Given the description of an element on the screen output the (x, y) to click on. 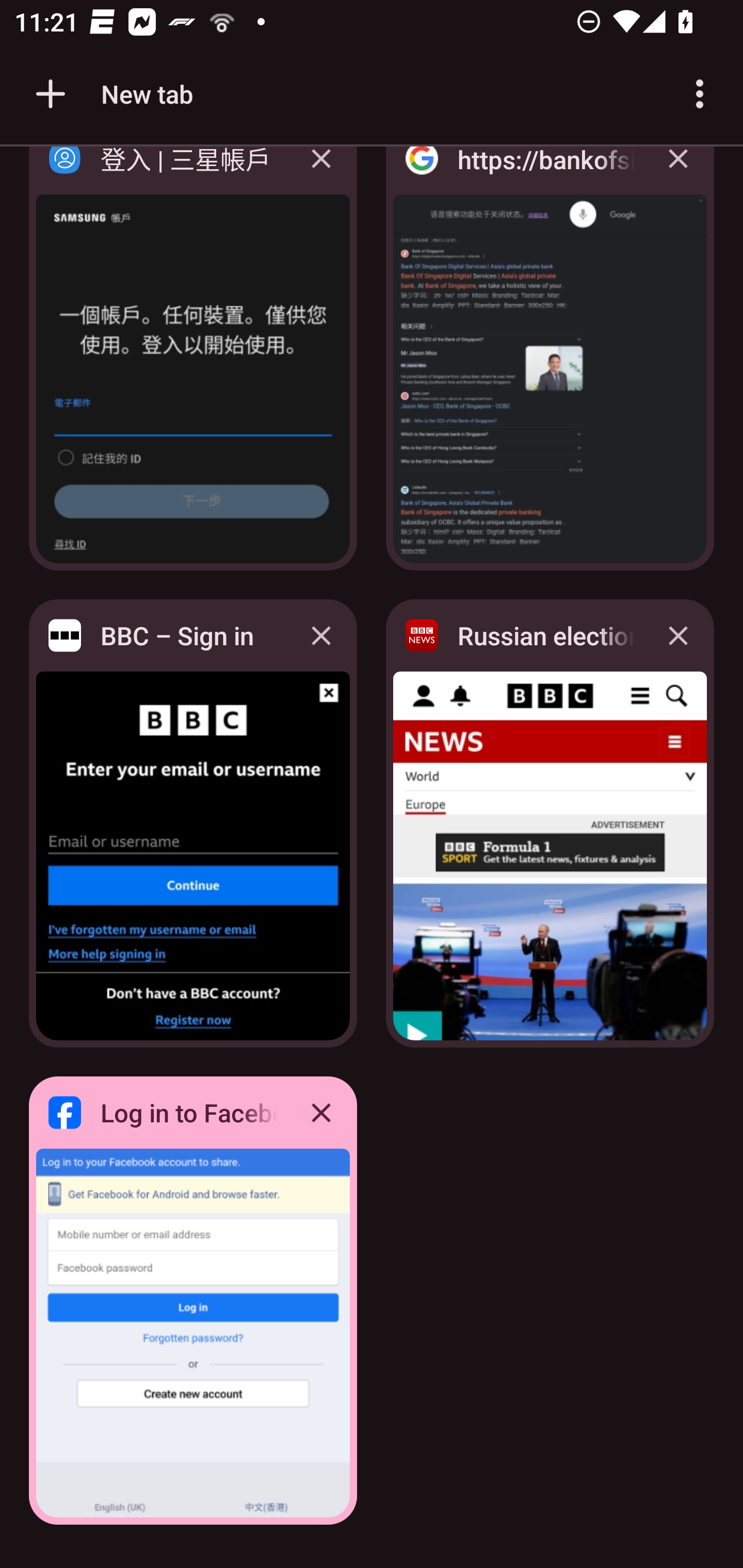
New tab (111, 93)
Customize and control Google Chrome (699, 93)
登入 | 三星帳戶 登入 | 三星帳戶, tab Close 登入 | 三星帳戶 tab (192, 364)
Close 登入 | 三星帳戶 tab (320, 173)
Close BBC – Sign in tab (320, 635)
Close Log in to Facebook | Facebook tab (320, 1112)
